Given the description of an element on the screen output the (x, y) to click on. 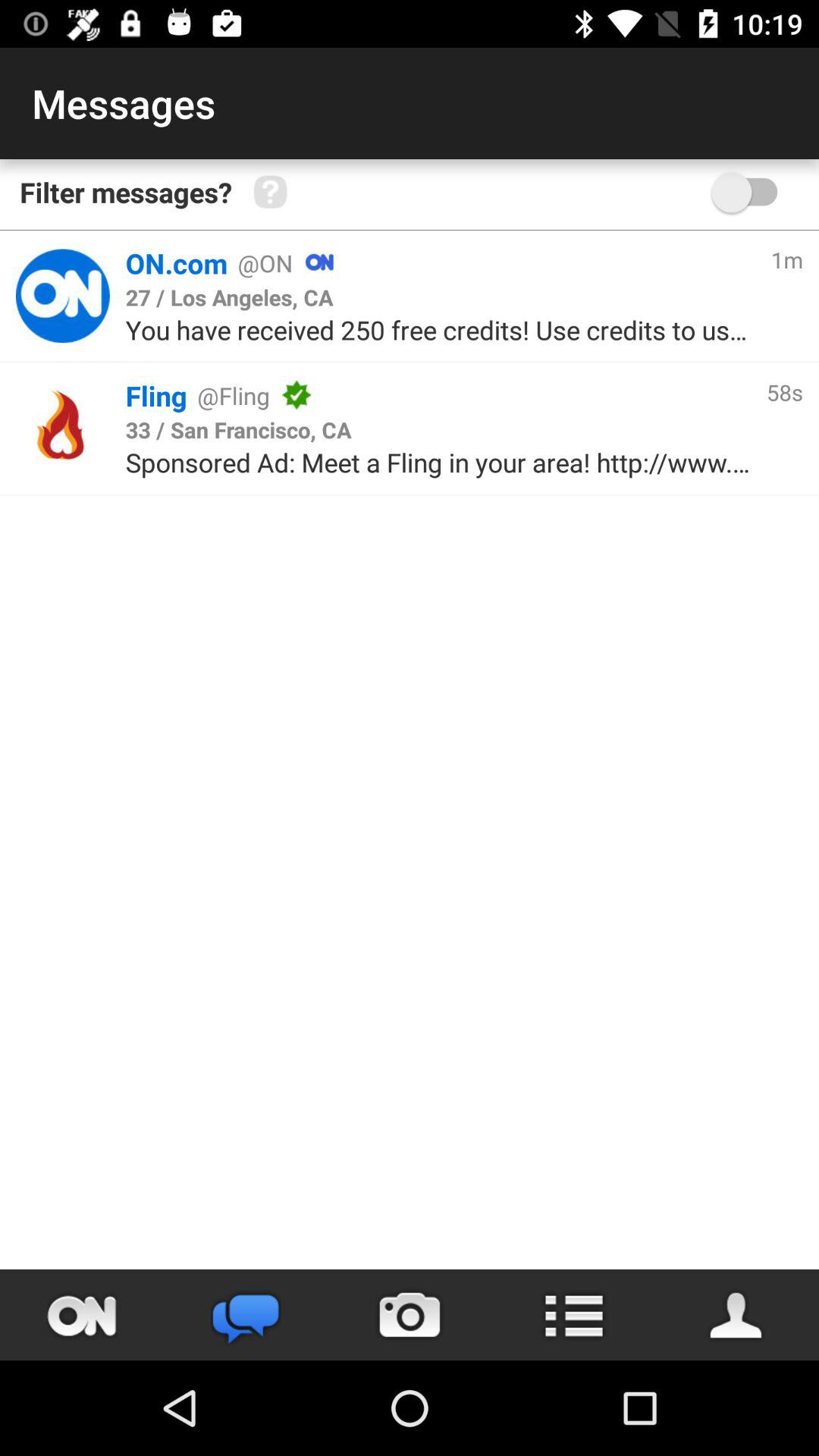
flip to the 1m item (787, 259)
